Given the description of an element on the screen output the (x, y) to click on. 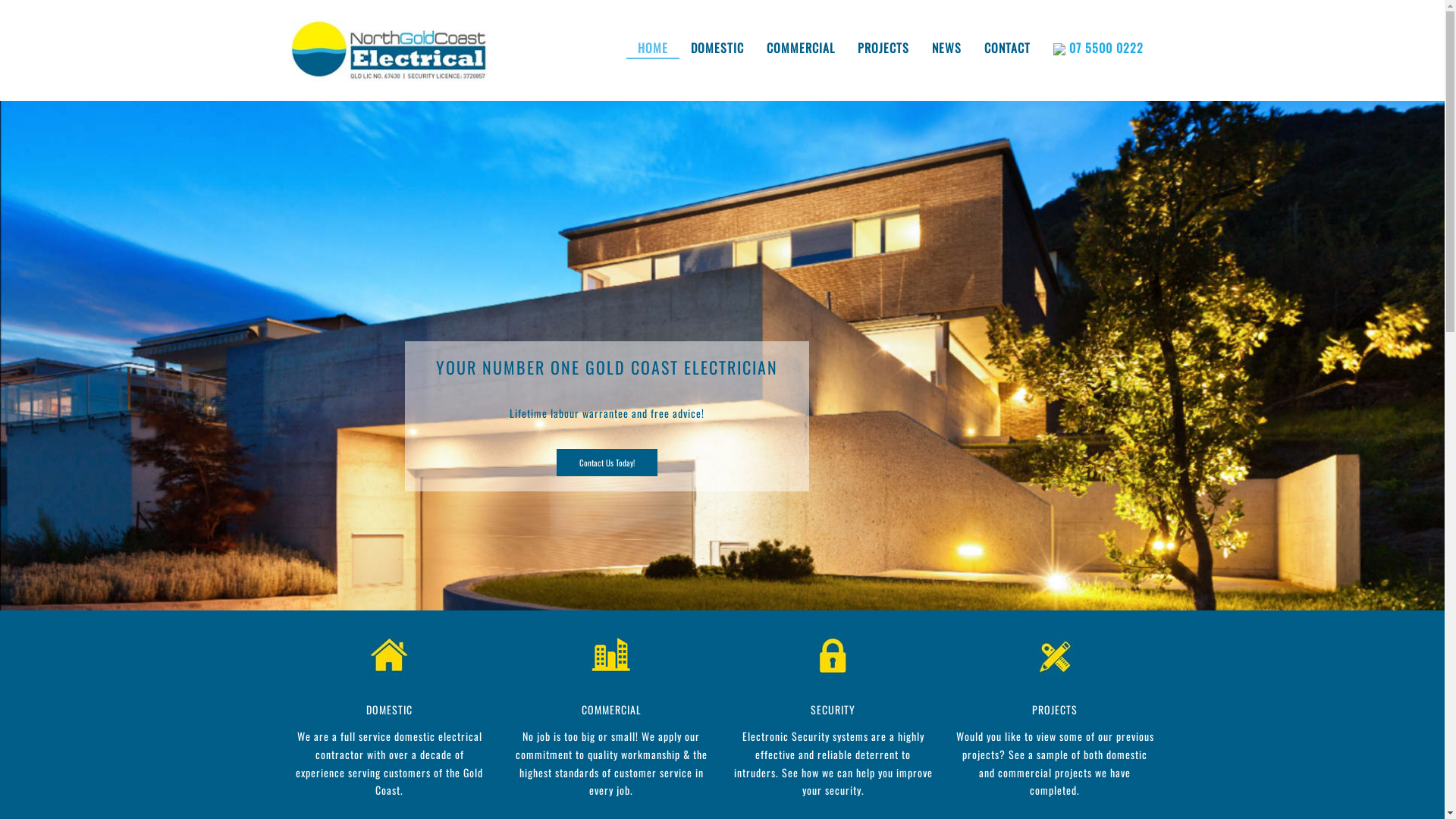
HOME Element type: text (652, 48)
NEWS Element type: text (946, 47)
logo Element type: hover (389, 49)
07 5500 0222 Element type: text (1097, 48)
CONTACT Element type: text (1006, 47)
PROJECTS Element type: text (1054, 709)
SECURITY Element type: text (832, 709)
Contact Us Today! Element type: text (606, 462)
COMMERCIAL Element type: text (611, 709)
PROJECTS Element type: text (883, 47)
DOMESTIC Element type: text (389, 709)
COMMERCIAL Element type: text (800, 47)
DOMESTIC Element type: text (717, 47)
